Given the description of an element on the screen output the (x, y) to click on. 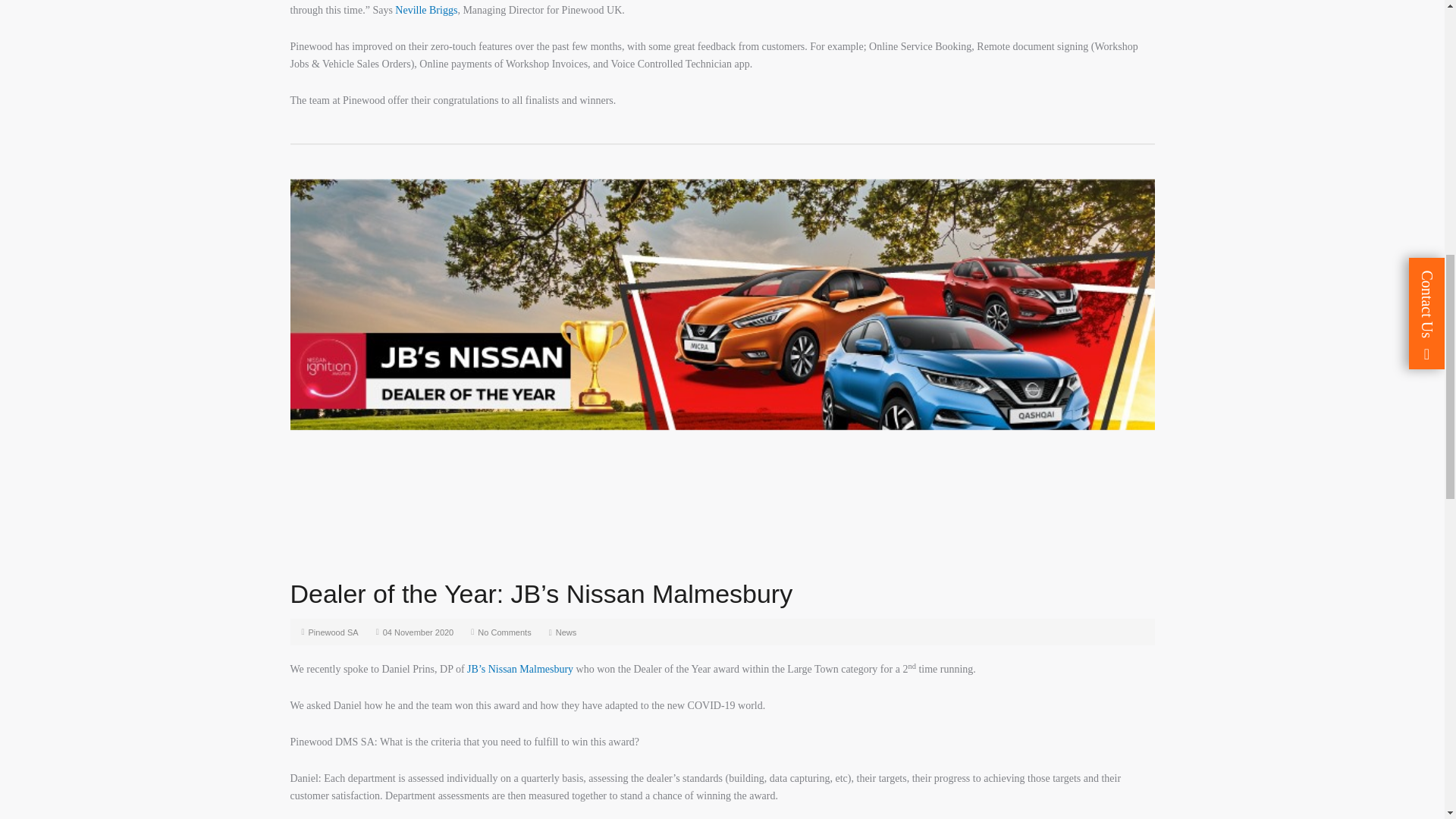
Posts by Pinewood SA (333, 632)
